Given the description of an element on the screen output the (x, y) to click on. 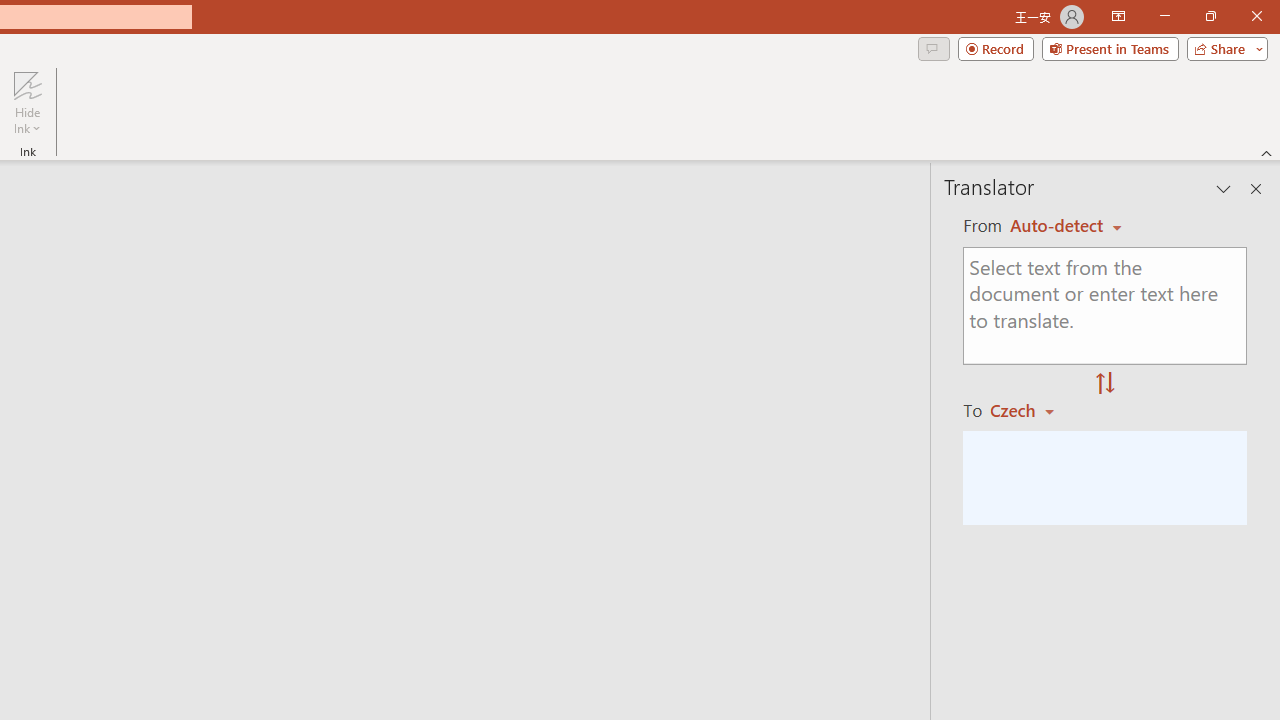
Task Pane Options (1224, 188)
Close pane (1256, 188)
